Given the description of an element on the screen output the (x, y) to click on. 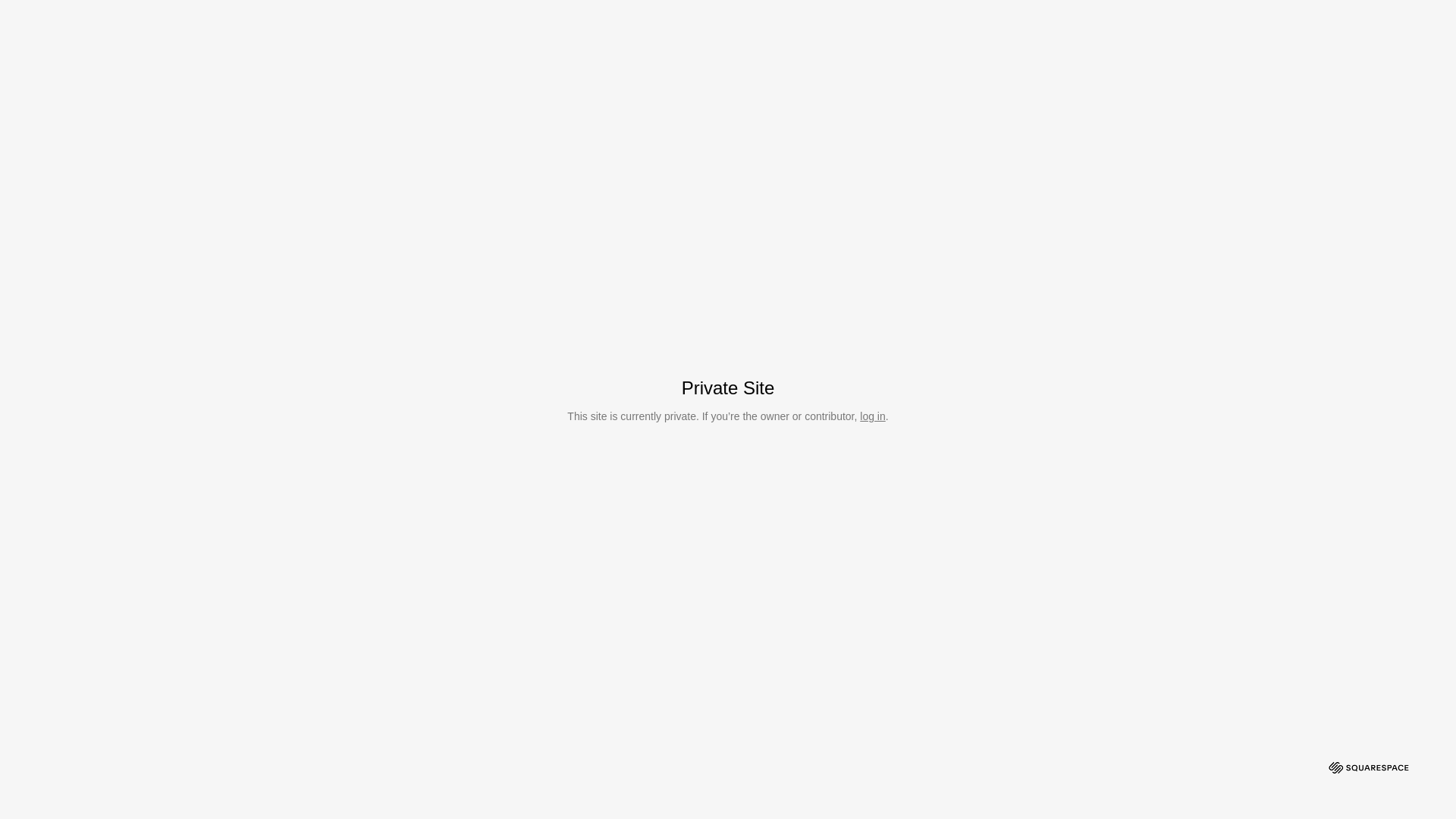
log in Element type: text (871, 416)
